Given the description of an element on the screen output the (x, y) to click on. 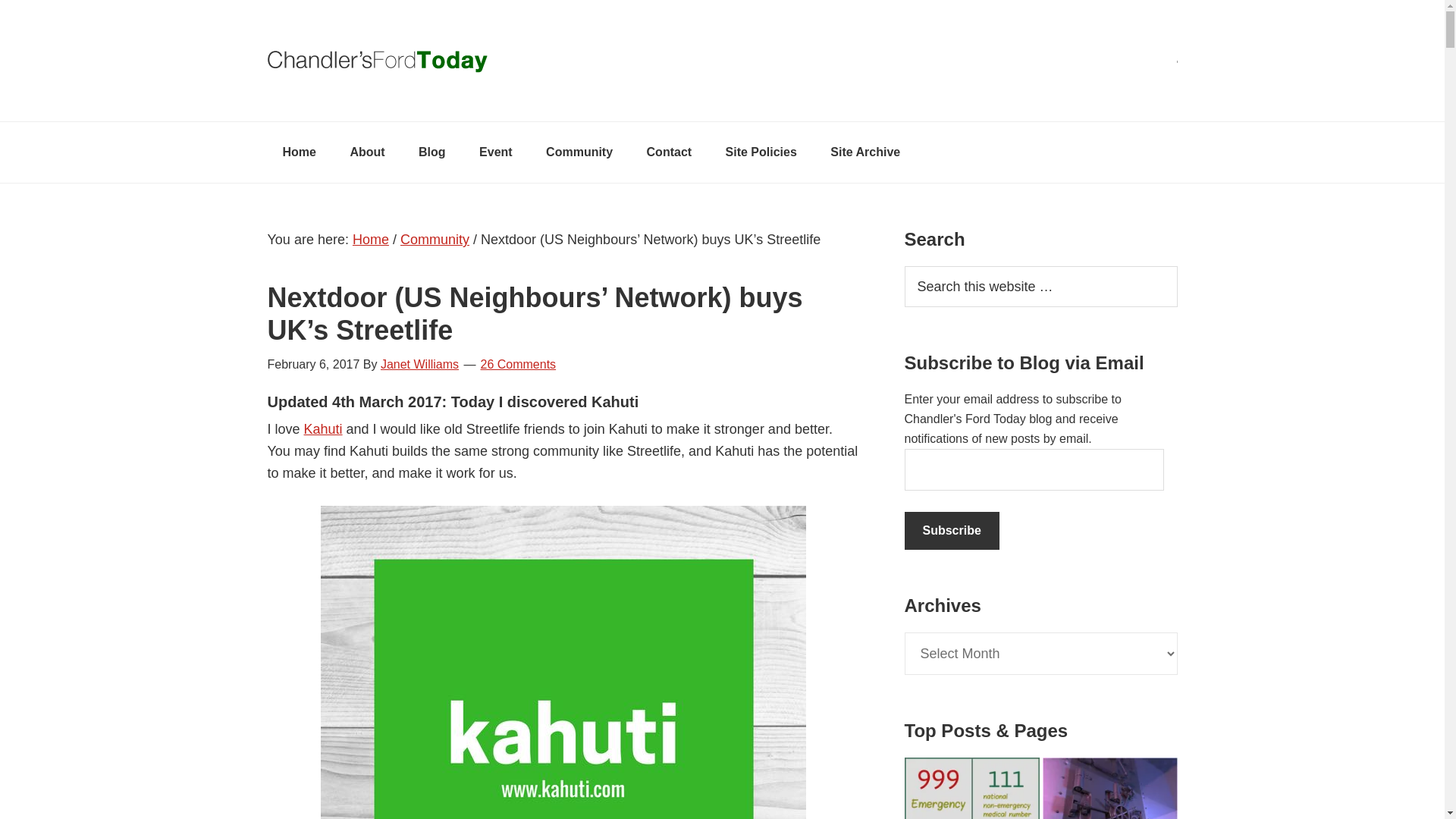
Chandler's Ford Today (721, 60)
Home (370, 239)
Site Archive (865, 152)
About (366, 152)
Kahuti (323, 428)
Subscribe (951, 530)
Blog (432, 152)
Contact (669, 152)
